Given the description of an element on the screen output the (x, y) to click on. 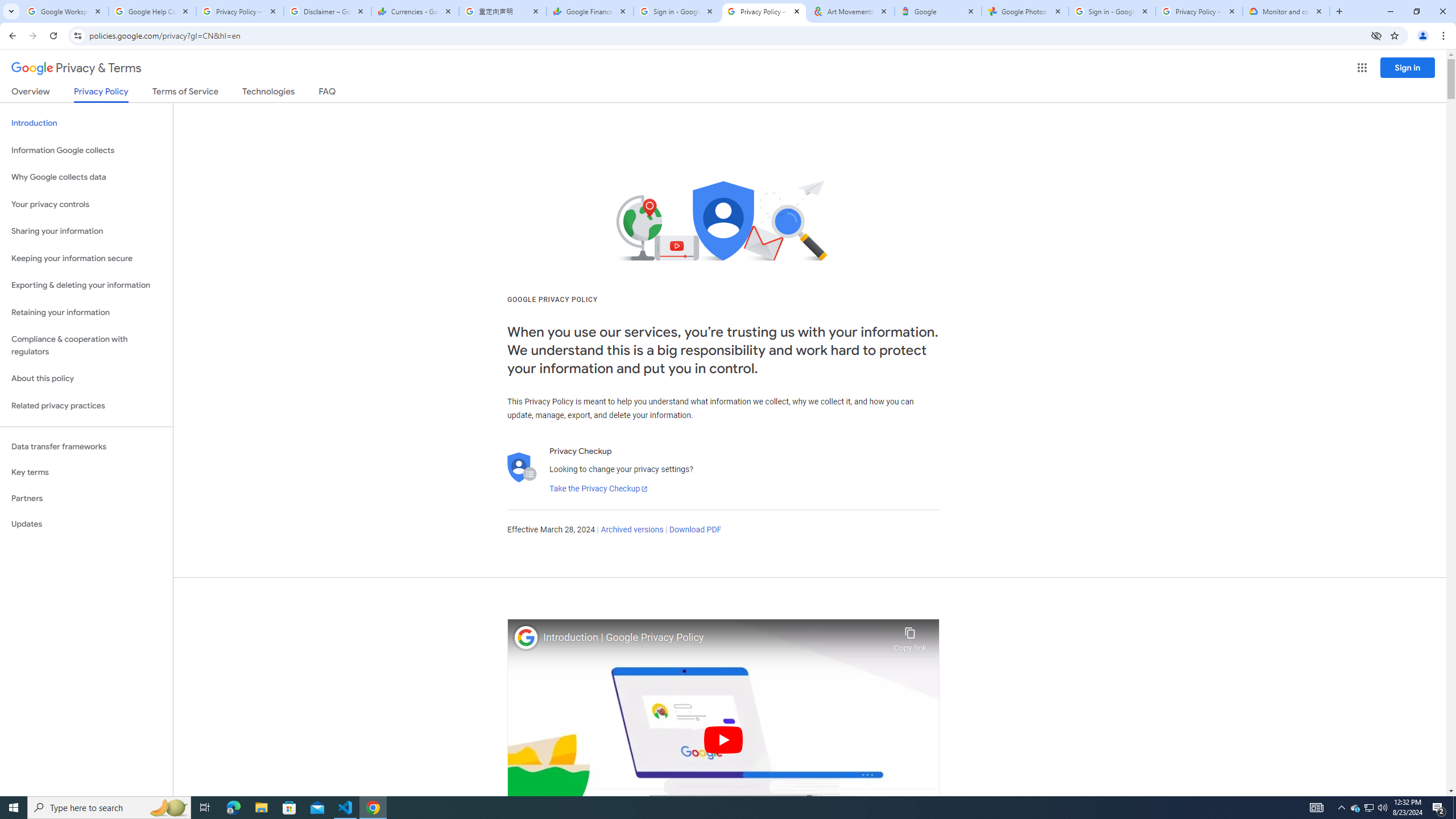
Data transfer frameworks (86, 446)
Currencies - Google Finance (415, 11)
